Given the description of an element on the screen output the (x, y) to click on. 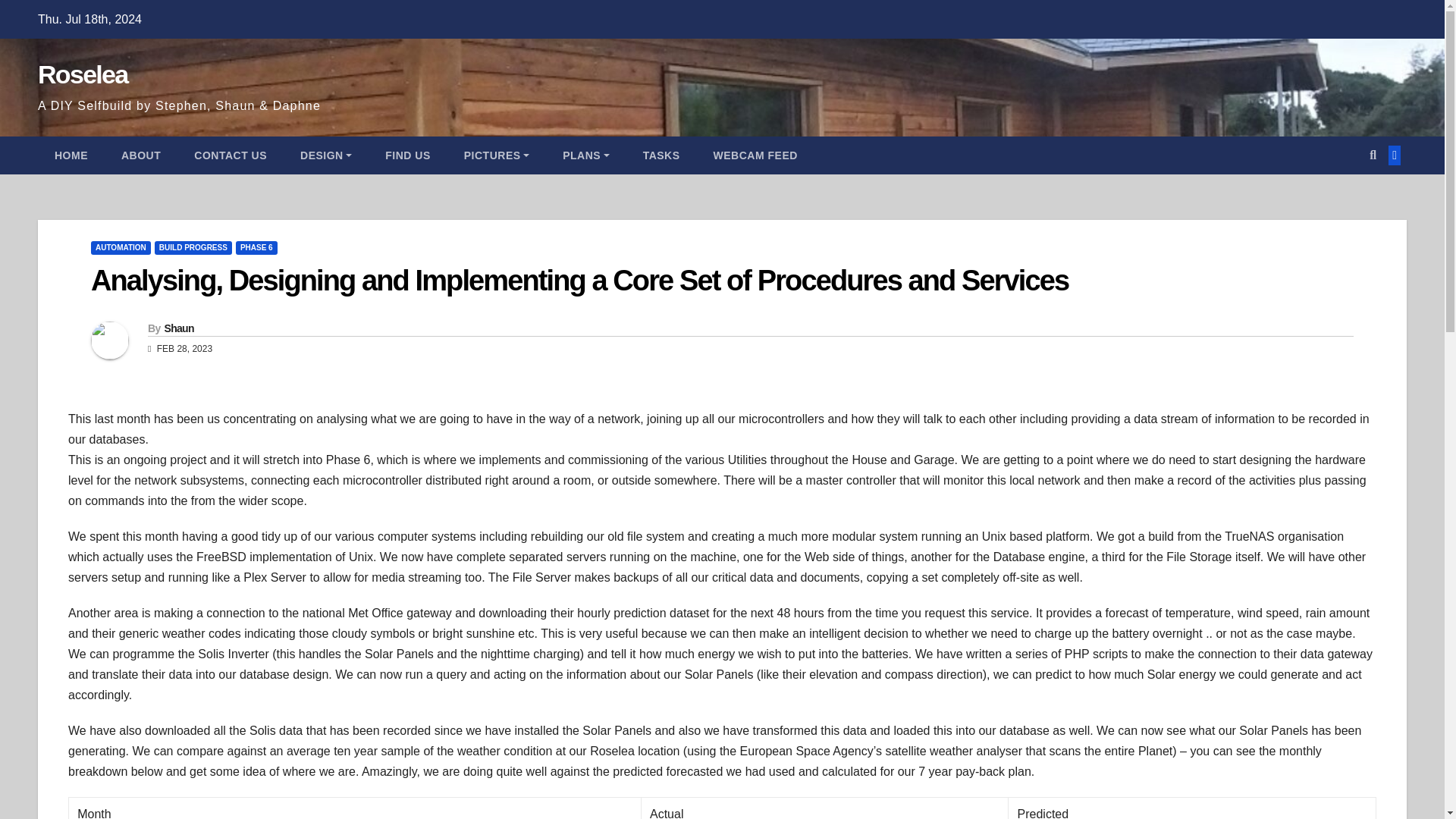
ABOUT (140, 155)
WEBCAM FEED (755, 155)
PLANS (586, 155)
DESIGN (325, 155)
FIND US (407, 155)
PICTURES (496, 155)
CONTACT US (230, 155)
Roselea (82, 73)
Home (70, 155)
TASKS (661, 155)
HOME (70, 155)
